Given the description of an element on the screen output the (x, y) to click on. 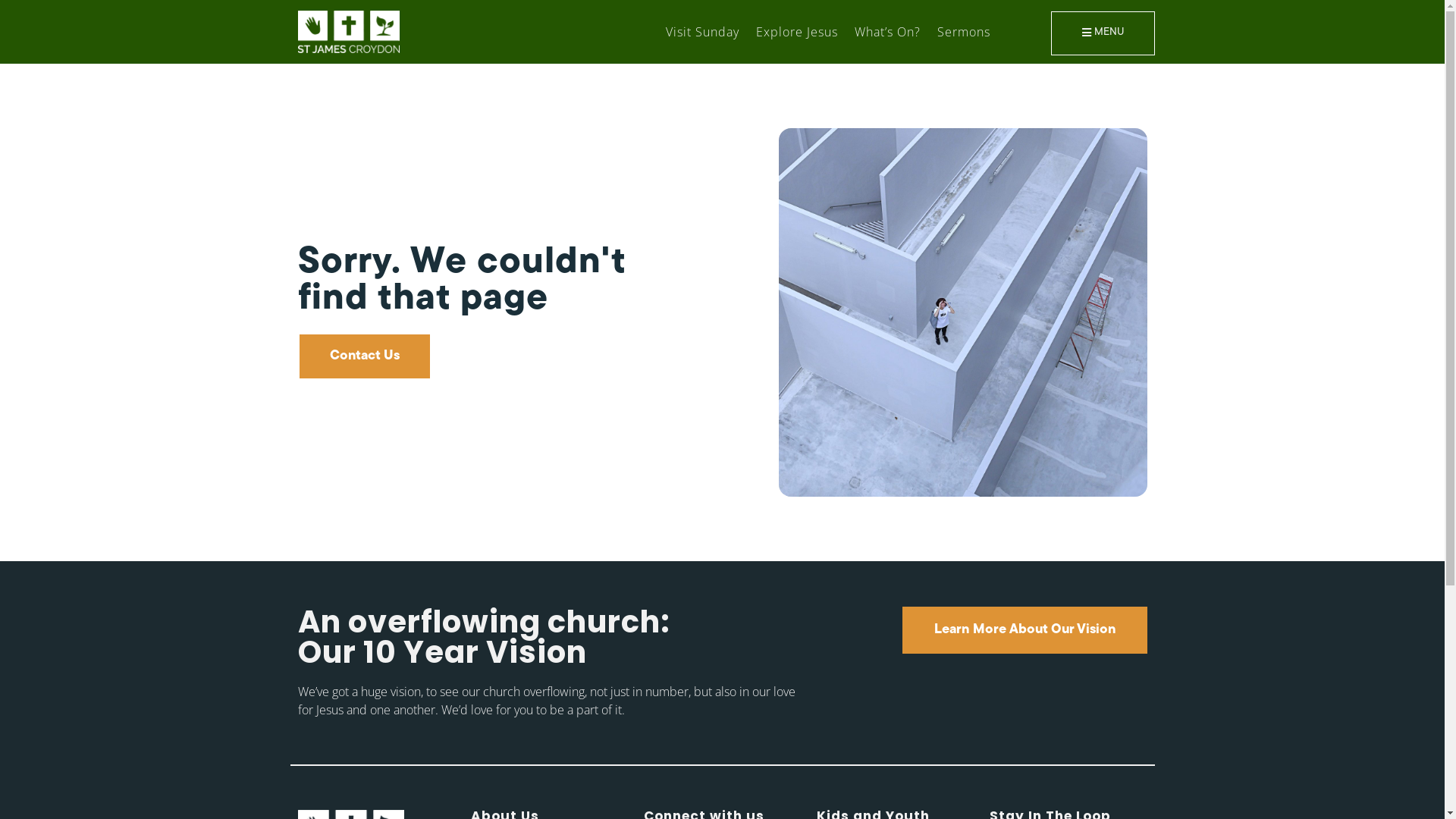
Contact Us Element type: text (363, 355)
Explore Jesus Element type: text (796, 31)
MENU Element type: text (1102, 33)
Visit Sunday Element type: text (702, 31)
danist-soh-FV7aZyI29UY-unsplash Element type: hover (962, 312)
Learn More About Our Vision Element type: text (1024, 629)
Sermons Element type: text (963, 31)
